Given the description of an element on the screen output the (x, y) to click on. 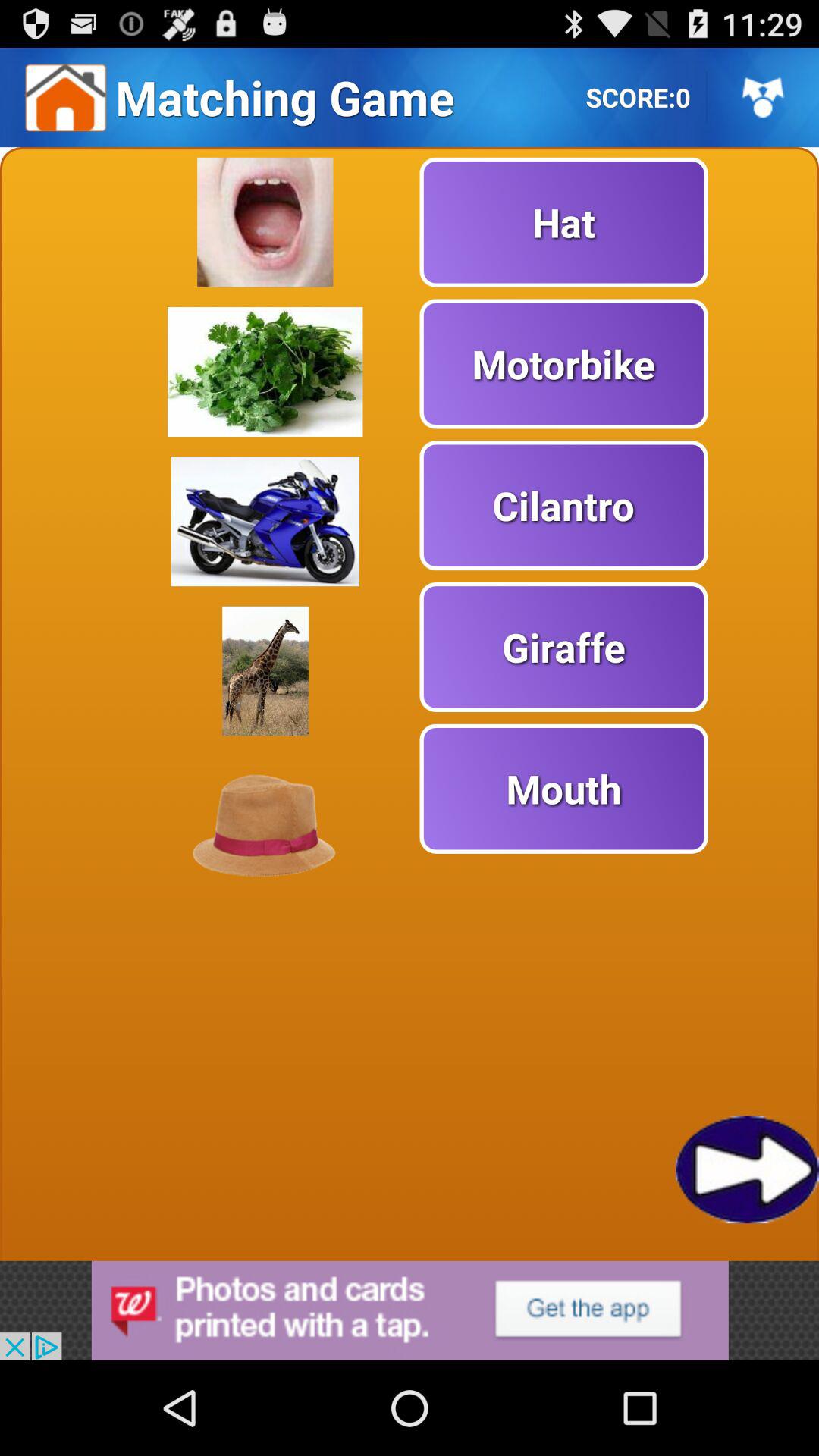
next page (747, 1169)
